Given the description of an element on the screen output the (x, y) to click on. 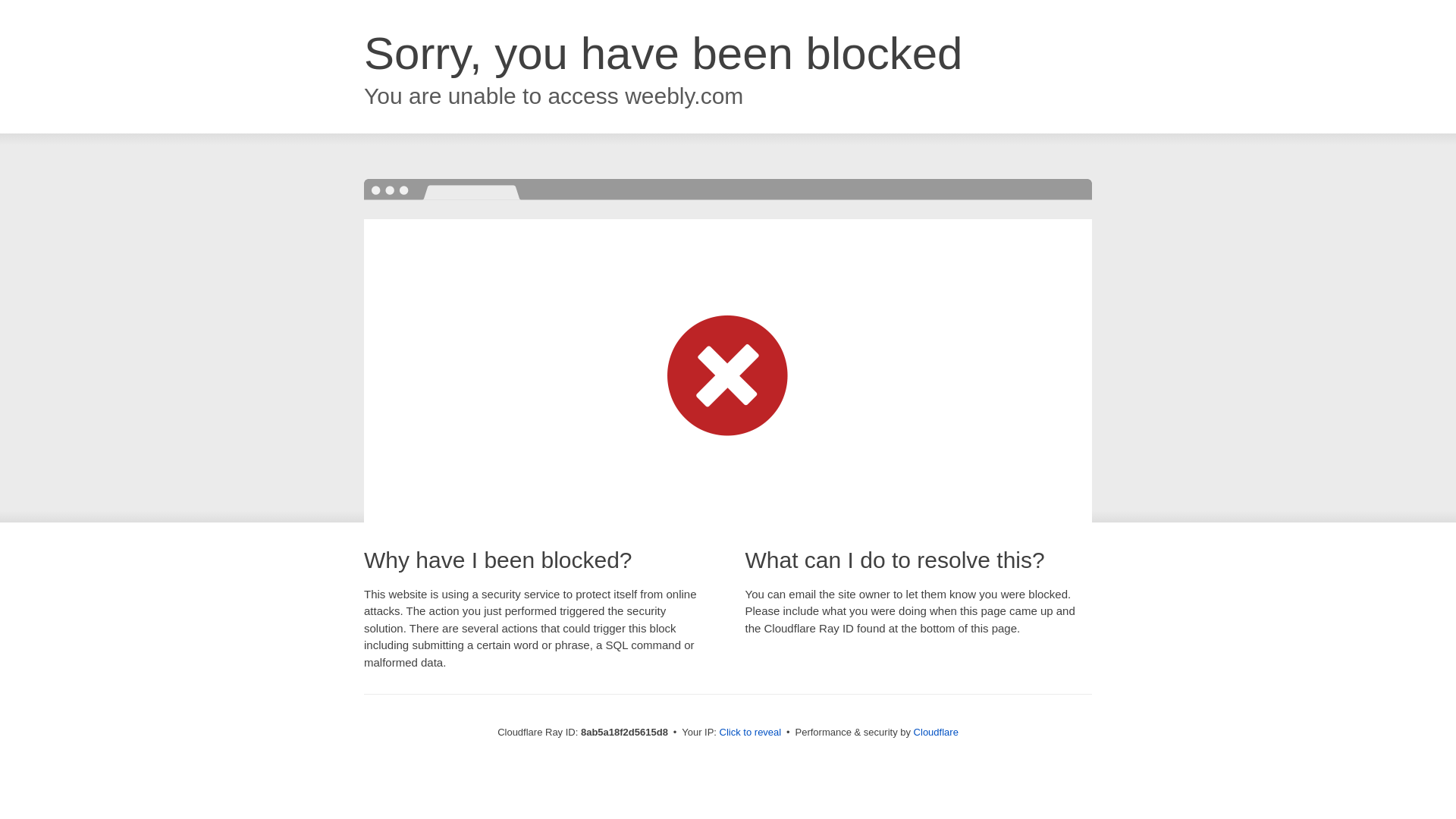
Cloudflare (936, 731)
Click to reveal (750, 732)
